Given the description of an element on the screen output the (x, y) to click on. 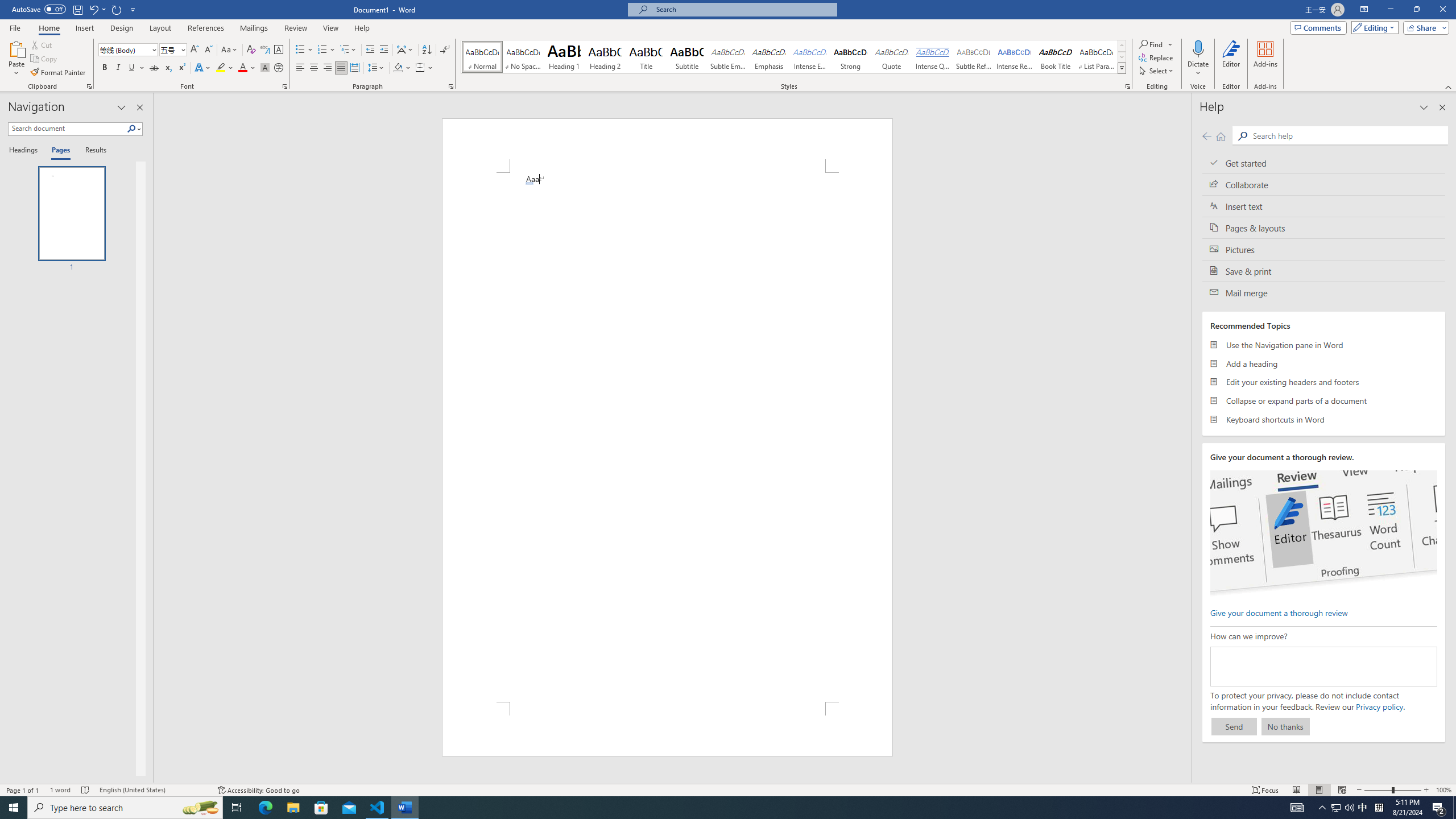
Text Highlight Color (224, 67)
Spelling and Grammar Check No Errors (85, 790)
Find (1151, 44)
Search (1347, 135)
Action: Undo Auto Actions (528, 183)
Give your document a thorough review (1278, 611)
Emphasis (768, 56)
Use the Navigation pane in Word (1323, 344)
Row up (1121, 45)
Read Mode (1296, 790)
Quick Access Toolbar (74, 9)
Editor (1231, 58)
Customize Quick Access Toolbar (133, 9)
Underline (131, 67)
Center (313, 67)
